Given the description of an element on the screen output the (x, y) to click on. 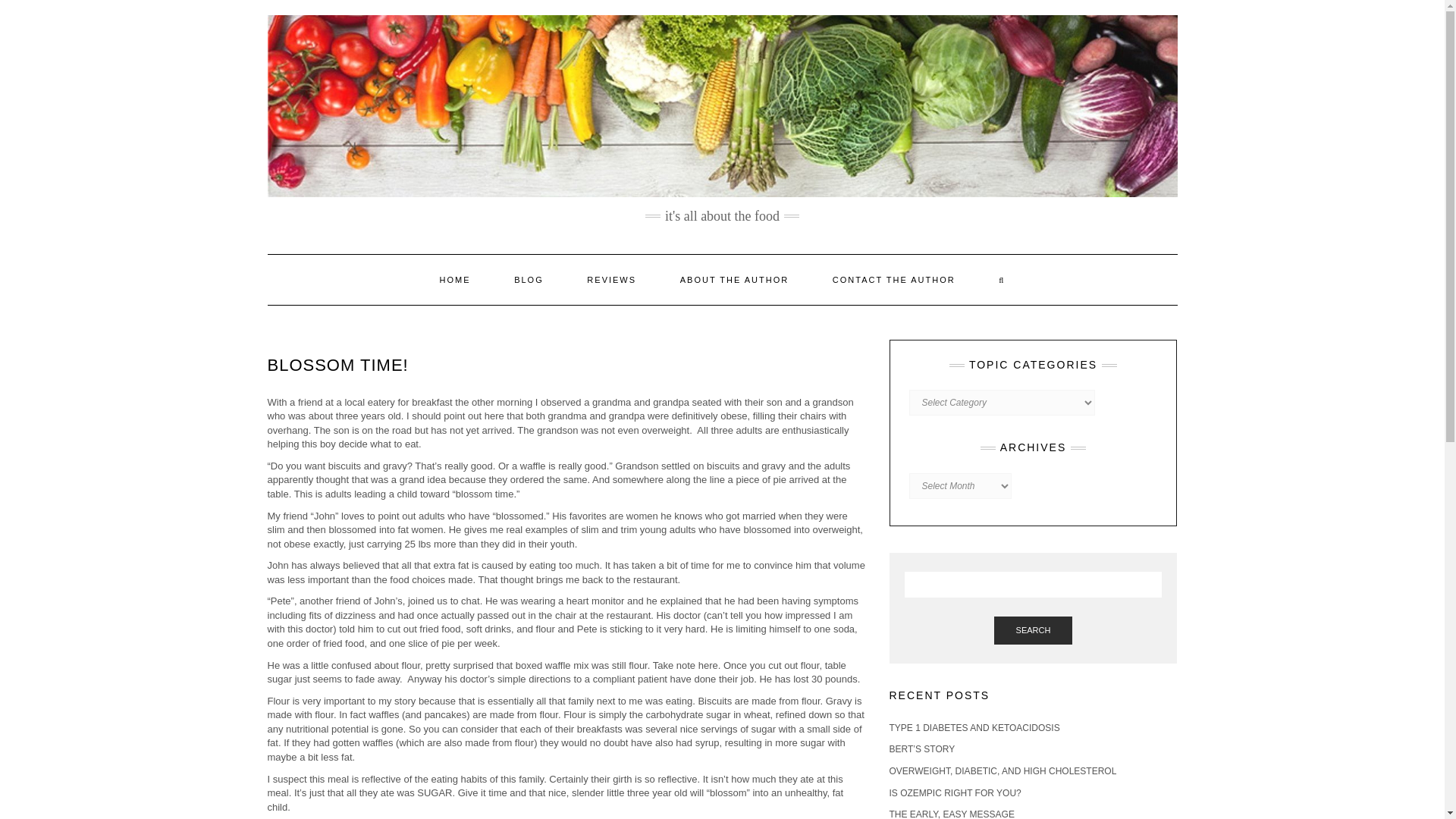
THE EARLY, EASY MESSAGE (950, 814)
IS OZEMPIC RIGHT FOR YOU? (954, 792)
SEARCH (1033, 630)
OVERWEIGHT, DIABETIC, AND HIGH CHOLESTEROL (1002, 770)
HOME (455, 279)
REVIEWS (611, 279)
ABOUT THE AUTHOR (734, 279)
CONTACT THE AUTHOR (893, 279)
BLOG (528, 279)
TYPE 1 DIABETES AND KETOACIDOSIS (973, 727)
